Given the description of an element on the screen output the (x, y) to click on. 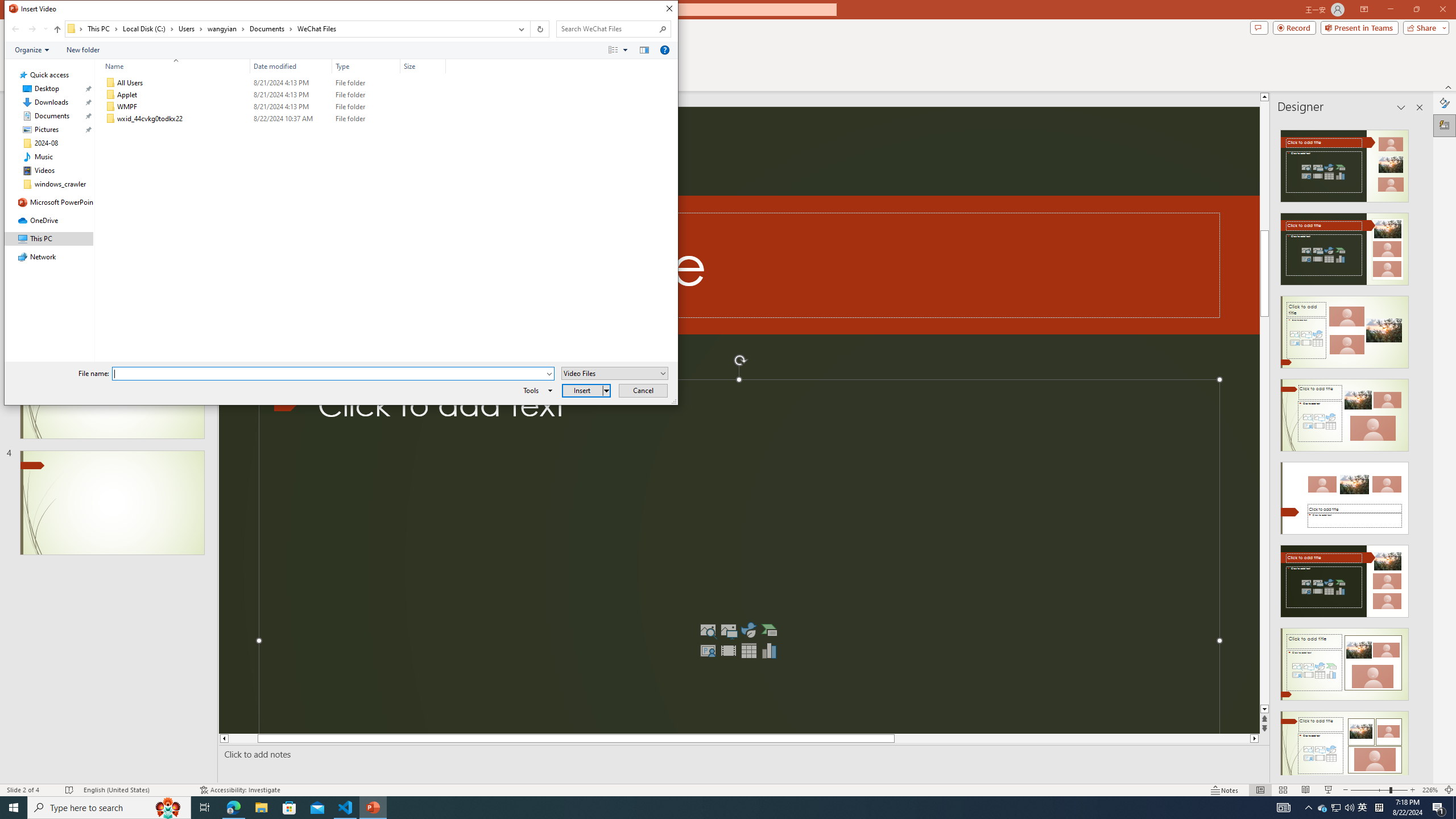
Address band toolbar (529, 28)
Design Idea (1344, 743)
Running applications (700, 807)
All locations (75, 28)
Type (365, 65)
Date modified (290, 119)
